Given the description of an element on the screen output the (x, y) to click on. 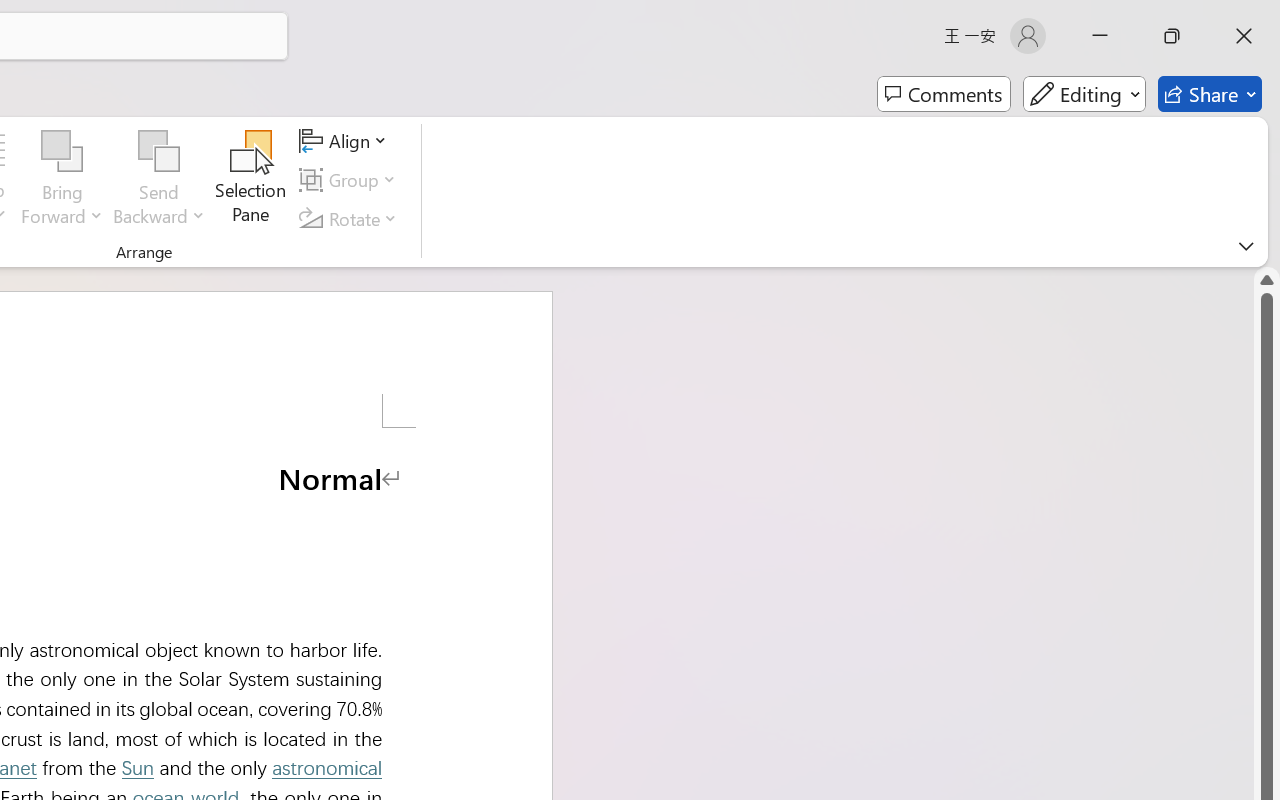
Sun (137, 768)
Rotate (351, 218)
Send Backward (159, 151)
Bring Forward (62, 151)
Group (351, 179)
Align (346, 141)
Bring Forward (62, 179)
Selection Pane... (251, 179)
